Given the description of an element on the screen output the (x, y) to click on. 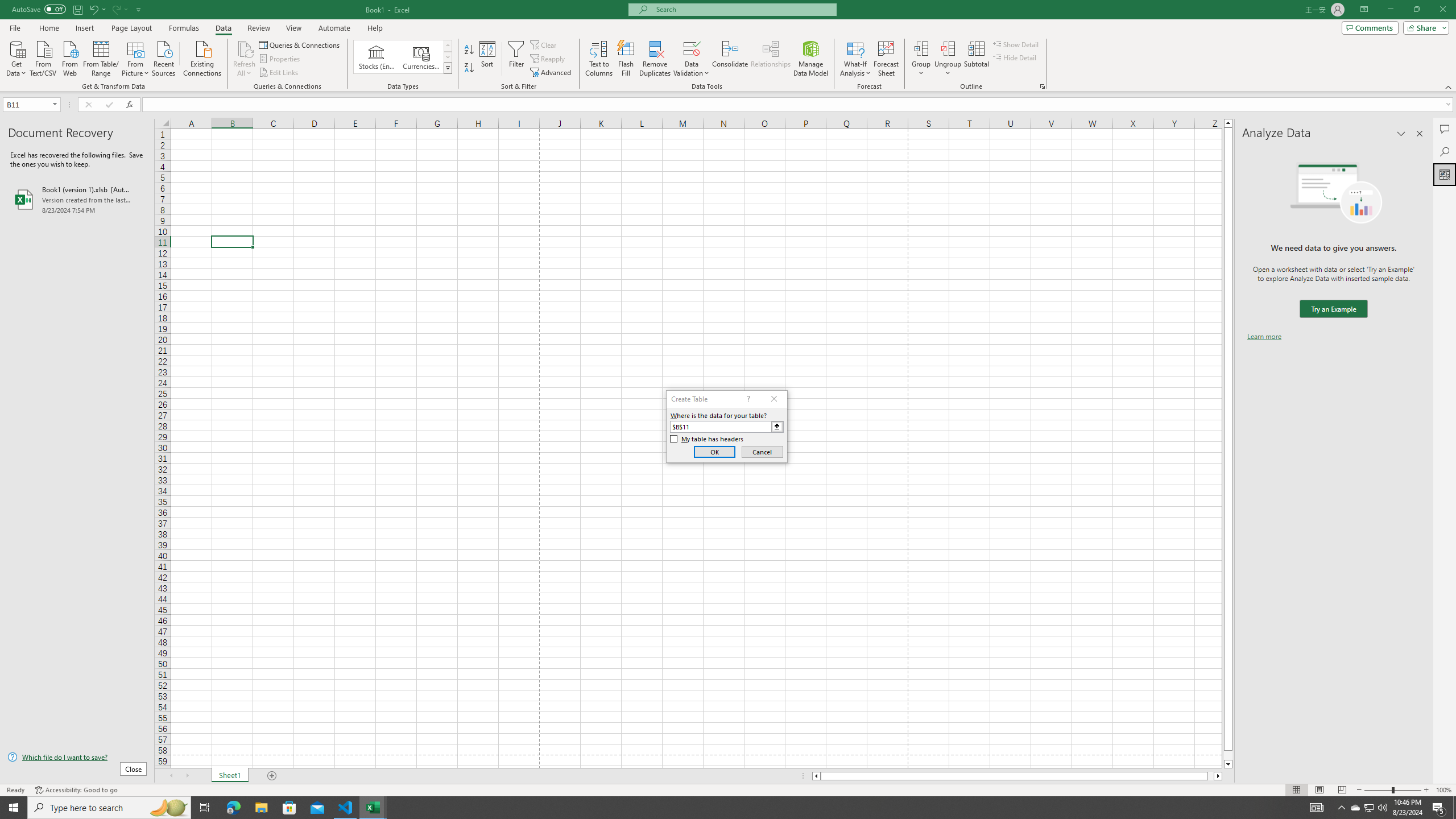
Remove Duplicates (654, 58)
Currencies (English) (420, 56)
Row up (448, 45)
From Table/Range (100, 57)
Stocks (English) (375, 56)
Class: MsoCommandBar (728, 45)
Properties (280, 58)
Search (1444, 151)
Text to Columns... (598, 58)
